Given the description of an element on the screen output the (x, y) to click on. 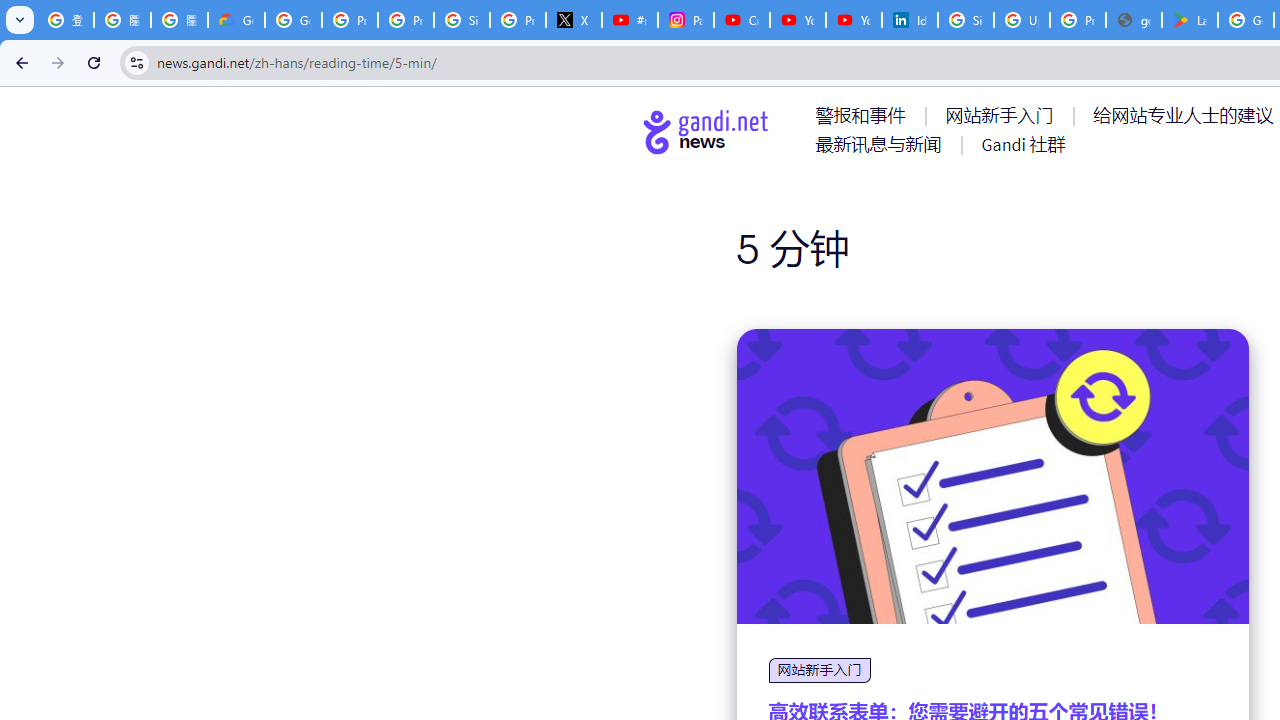
View site information (136, 62)
Reload (93, 62)
Back (19, 62)
Go to home (706, 131)
AutomationID: menu-item-77762 (1003, 115)
Search tabs (20, 20)
AutomationID: menu-item-77766 (882, 143)
Privacy Help Center - Policies Help (405, 20)
Identity verification via Persona | LinkedIn Help (909, 20)
Last Shelter: Survival - Apps on Google Play (1190, 20)
